Given the description of an element on the screen output the (x, y) to click on. 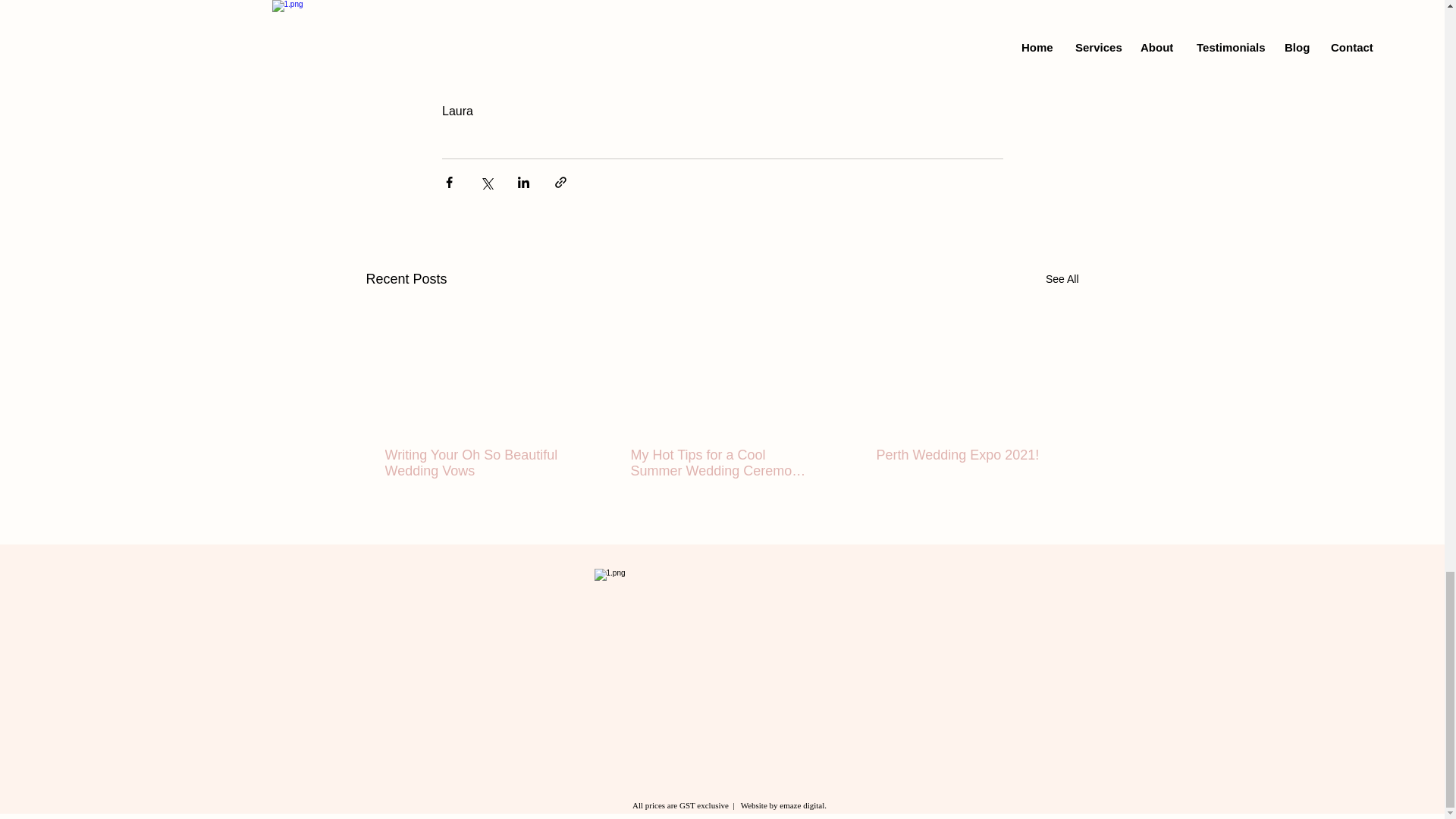
Perth Wedding Expo 2021! (967, 455)
See All (1061, 279)
emaze digital. (802, 804)
Writing Your Oh So Beautiful Wedding Vows (476, 463)
